Given the description of an element on the screen output the (x, y) to click on. 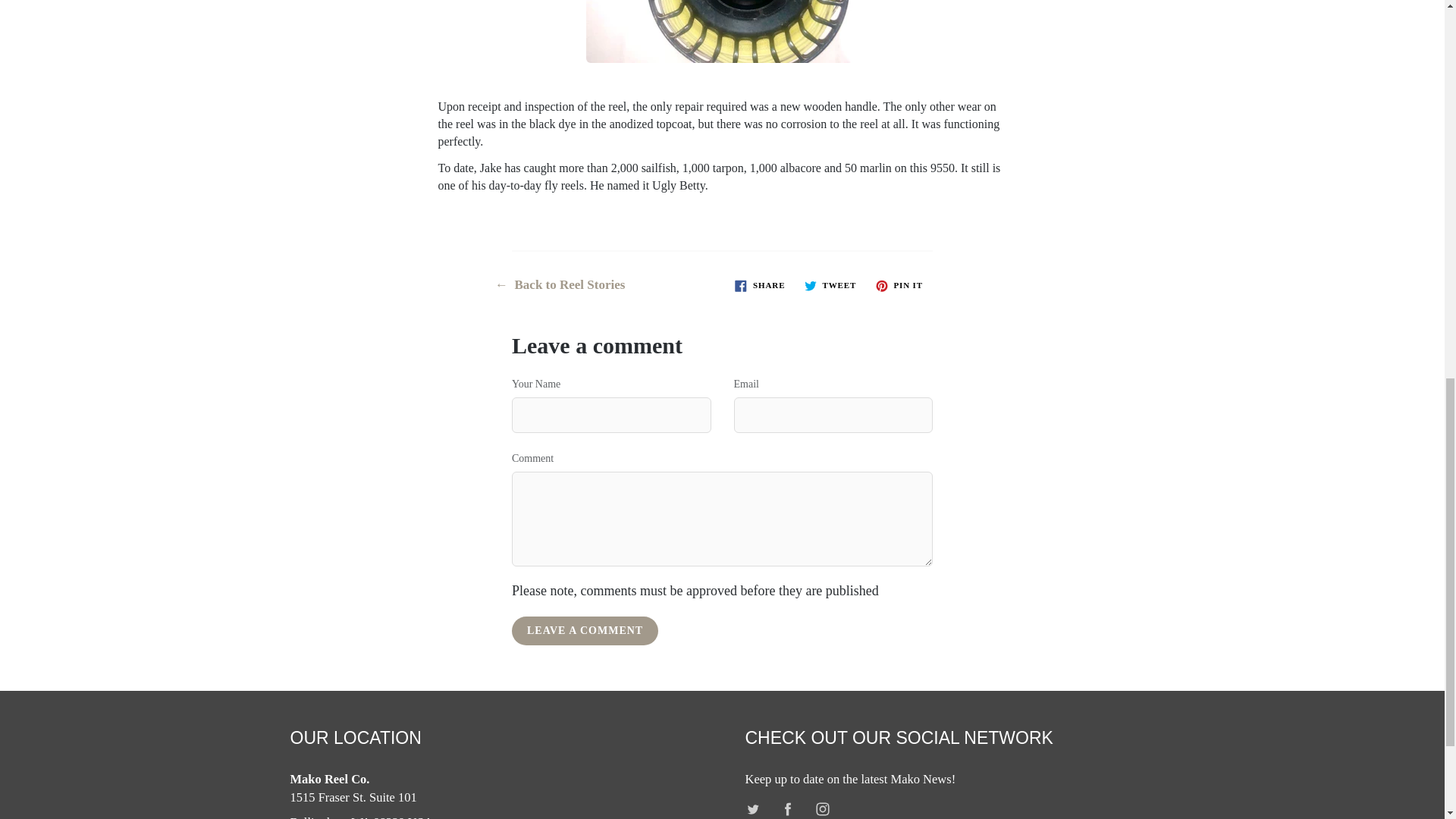
Twitter (753, 807)
Share on Facebook (759, 285)
Instagram (822, 807)
Pin on Pinterest (898, 285)
Facebook (788, 807)
Tweet on Twitter (829, 285)
Page 1 (722, 101)
